Given the description of an element on the screen output the (x, y) to click on. 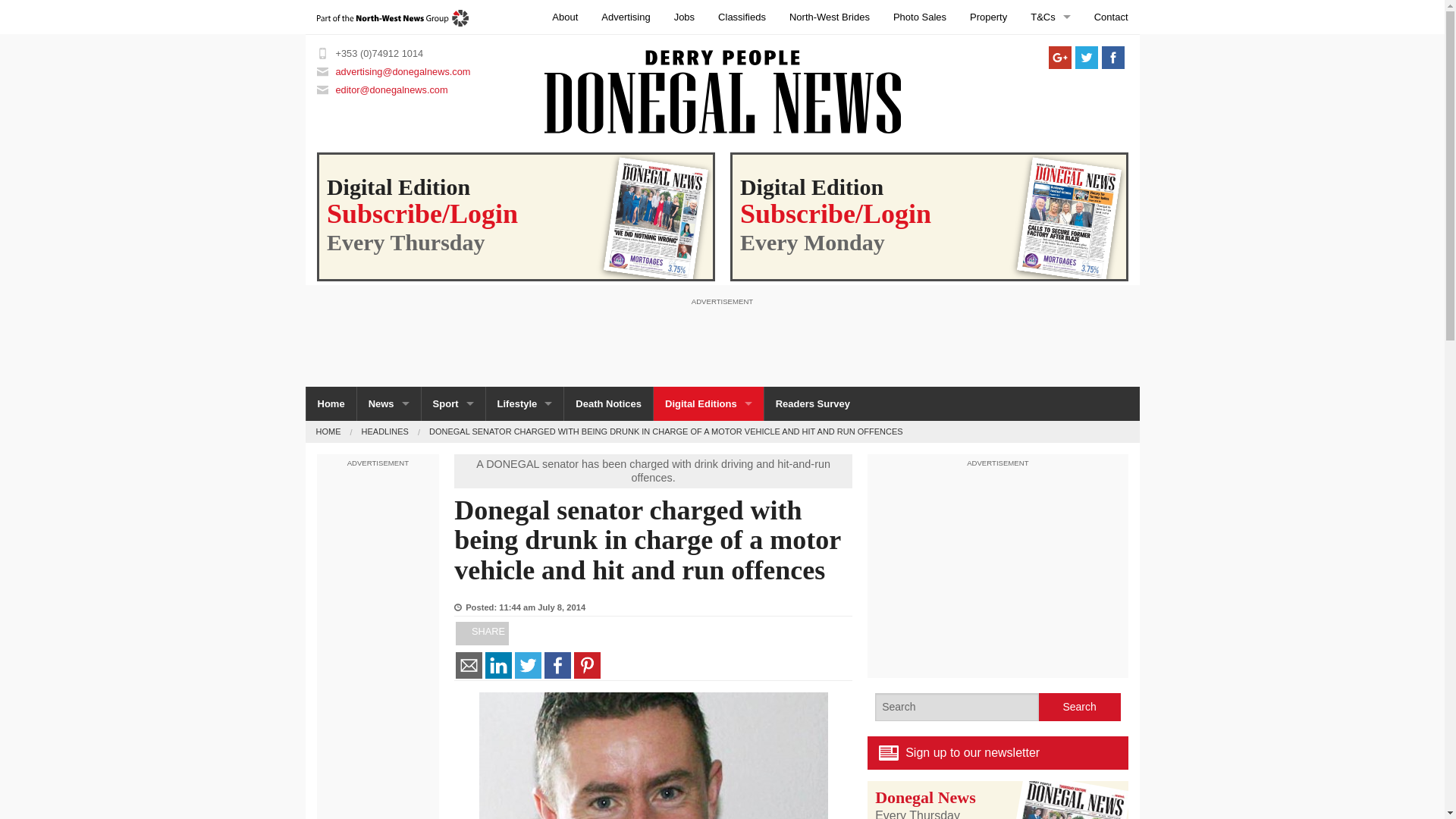
pinterest (587, 665)
Go to the Headlines category archives. (385, 430)
Search (1080, 706)
3rd party ad content (721, 341)
twitter (528, 665)
email (468, 665)
facebook (557, 665)
Go to Donegal News. (327, 430)
linkedin (498, 665)
